Given the description of an element on the screen output the (x, y) to click on. 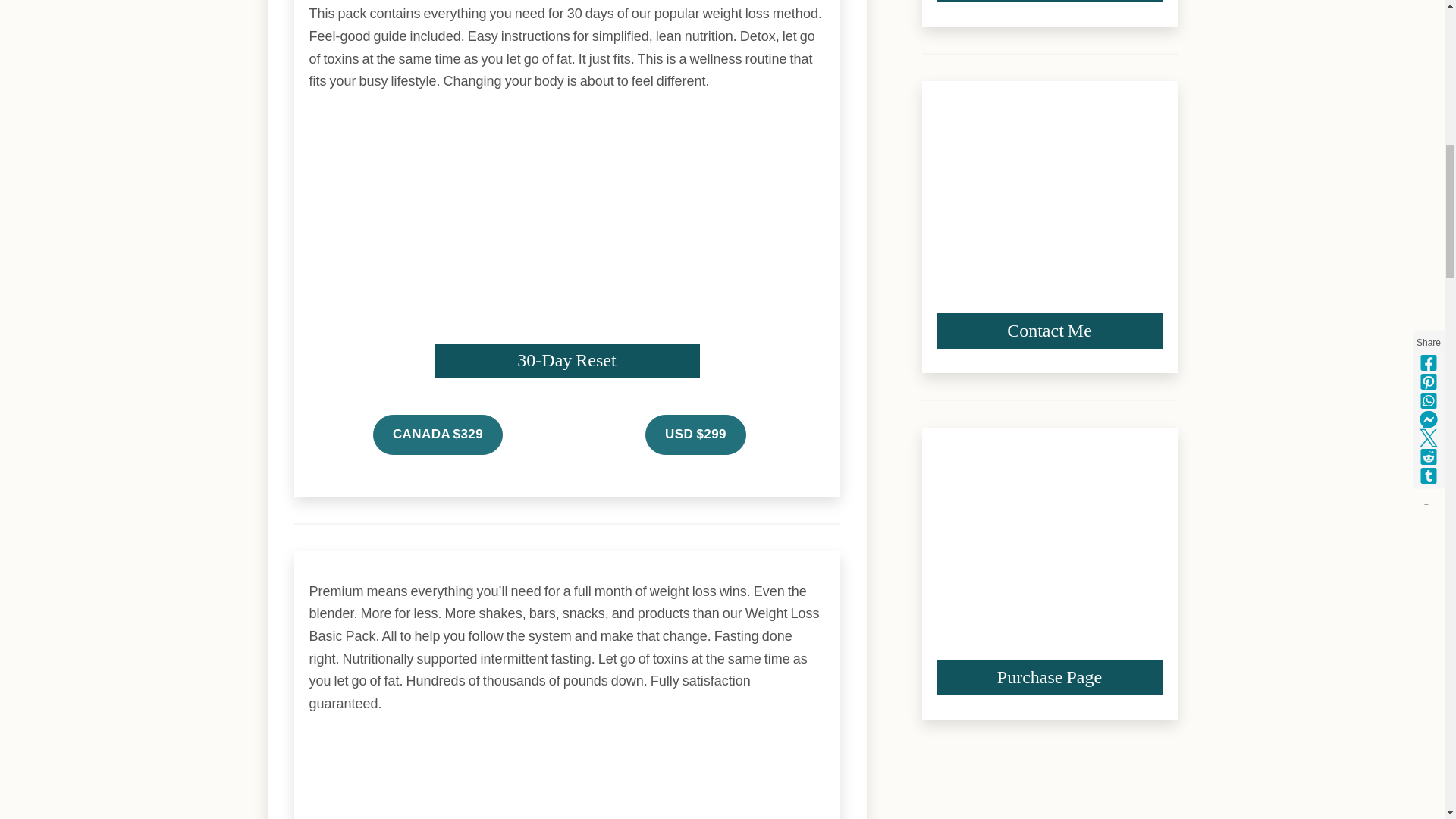
Isagenix Premium Pack (565, 776)
What's inside the Isagenix 30-Day System? (565, 244)
